Given the description of an element on the screen output the (x, y) to click on. 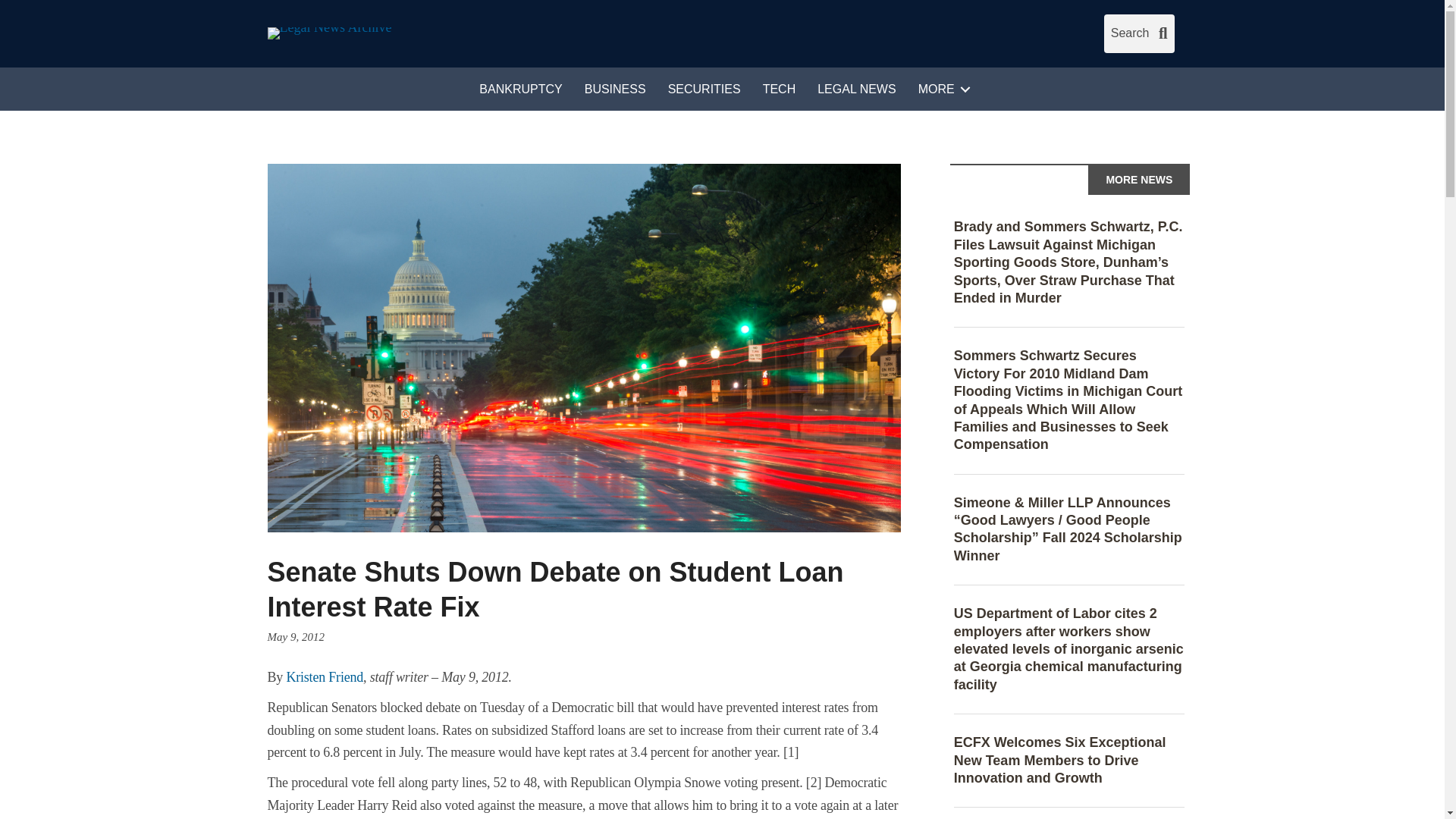
Search (1138, 33)
TECH (779, 89)
MORE (941, 89)
BUSINESS (614, 89)
LEGAL NEWS (855, 89)
BANKRUPTCY (520, 89)
SECURITIES (704, 89)
